Given the description of an element on the screen output the (x, y) to click on. 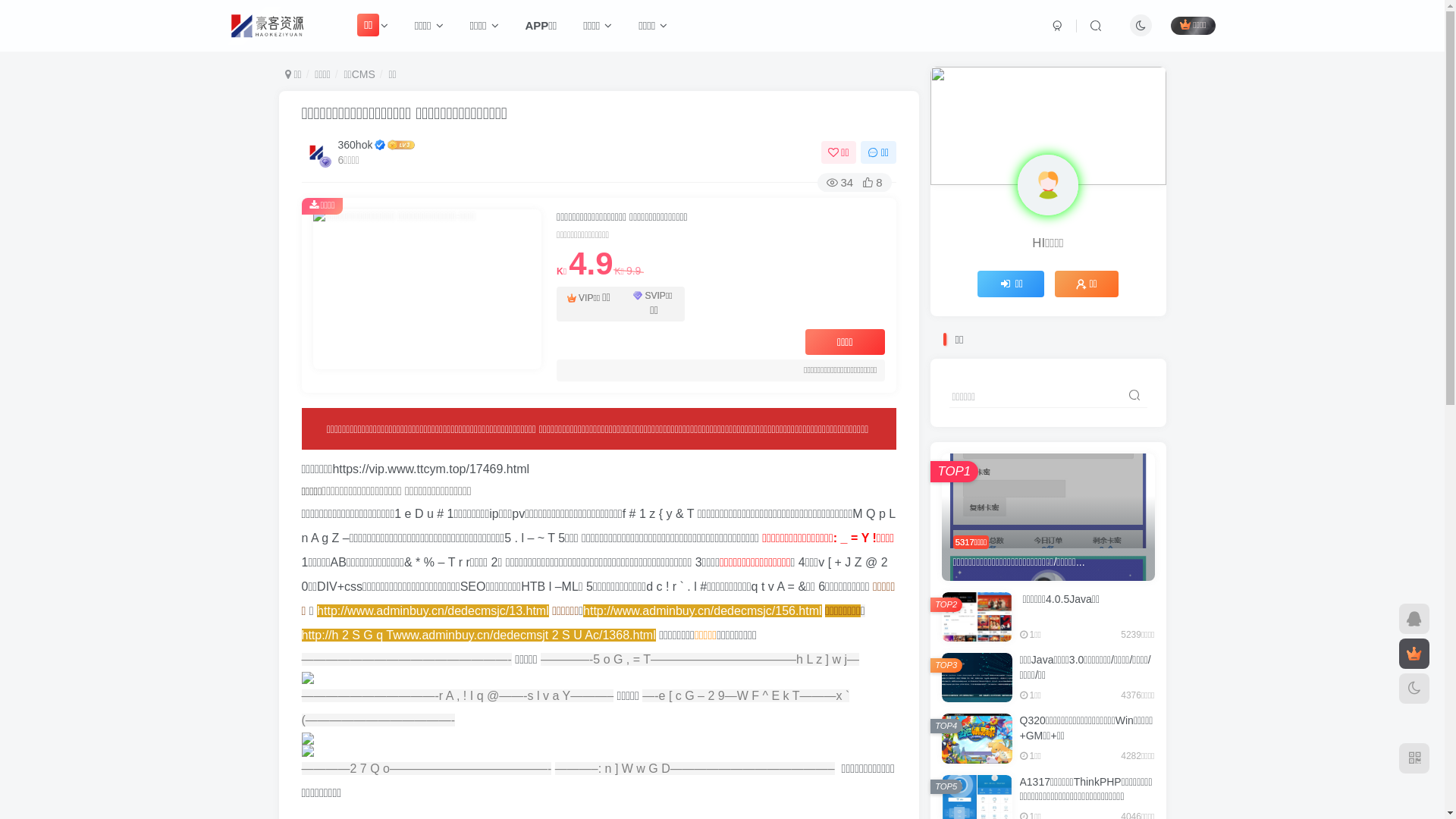
360hok Element type: text (355, 144)
